Given the description of an element on the screen output the (x, y) to click on. 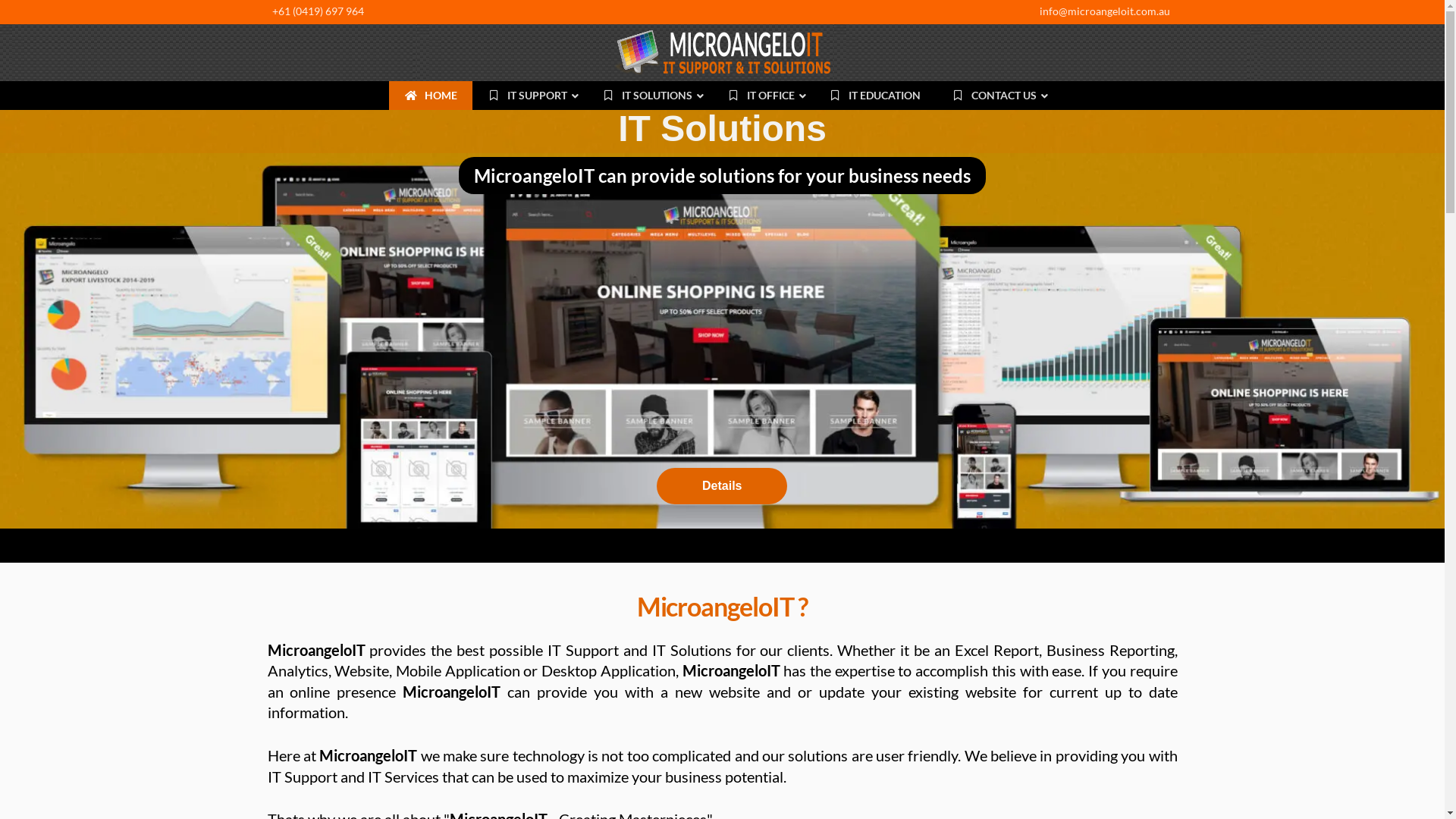
HOME Element type: text (430, 95)
+61 (0419) 697 964 Element type: text (317, 10)
CONTACT US Element type: text (995, 95)
IT SUPPORT Element type: text (529, 95)
IT EDUCATION Element type: text (874, 95)
IT SOLUTIONS Element type: text (648, 95)
info@microangeloit.com.au Element type: text (1103, 10)
IT OFFICE Element type: text (762, 95)
